Given the description of an element on the screen output the (x, y) to click on. 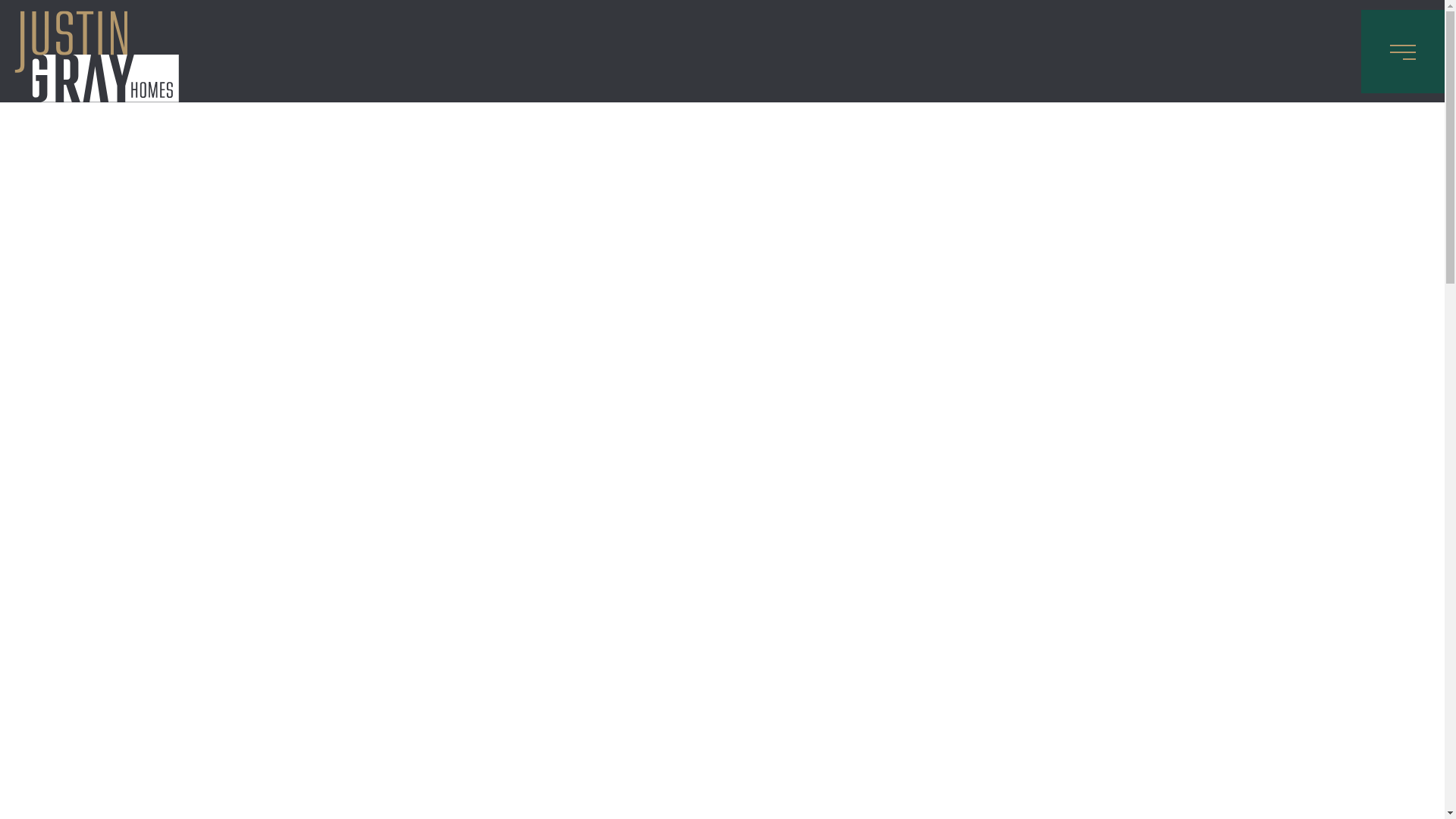
Justin Gray Homes (51, 26)
